Given the description of an element on the screen output the (x, y) to click on. 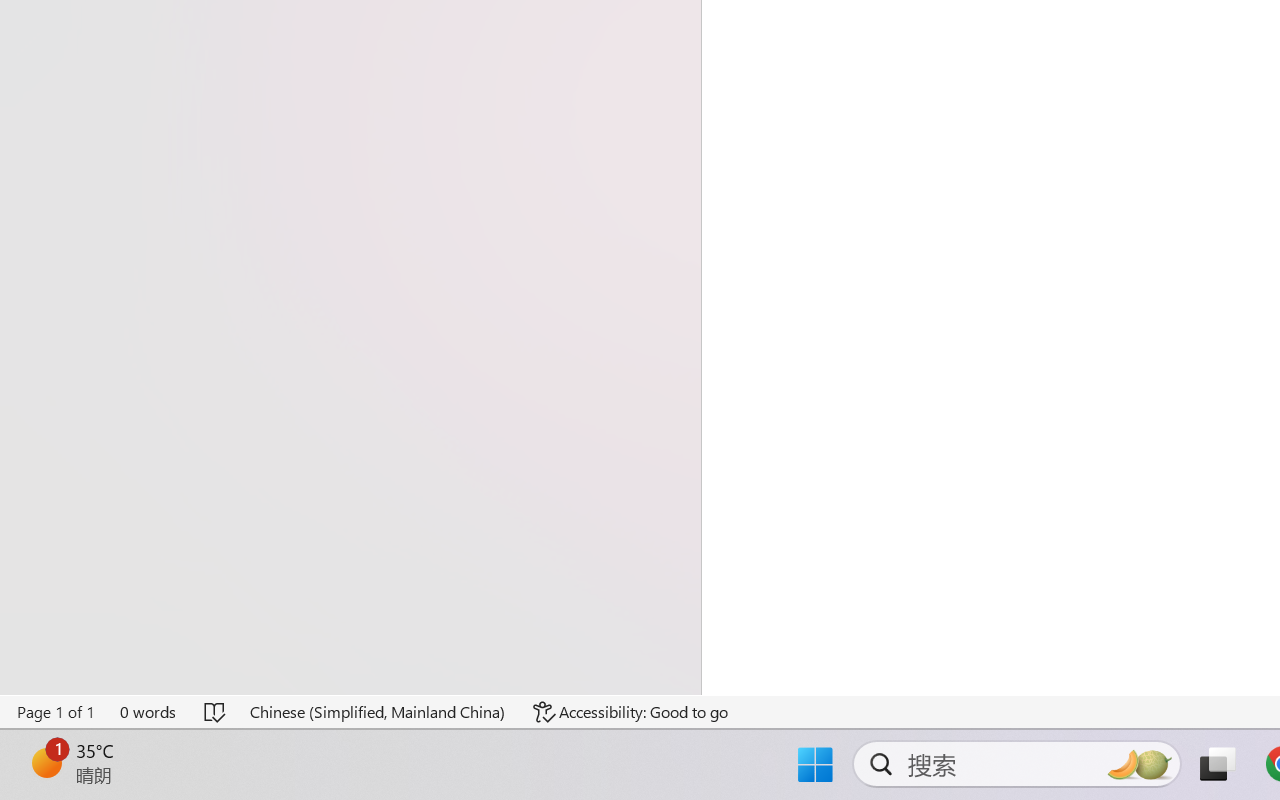
Language Chinese (Simplified, Mainland China) (378, 712)
